Given the description of an element on the screen output the (x, y) to click on. 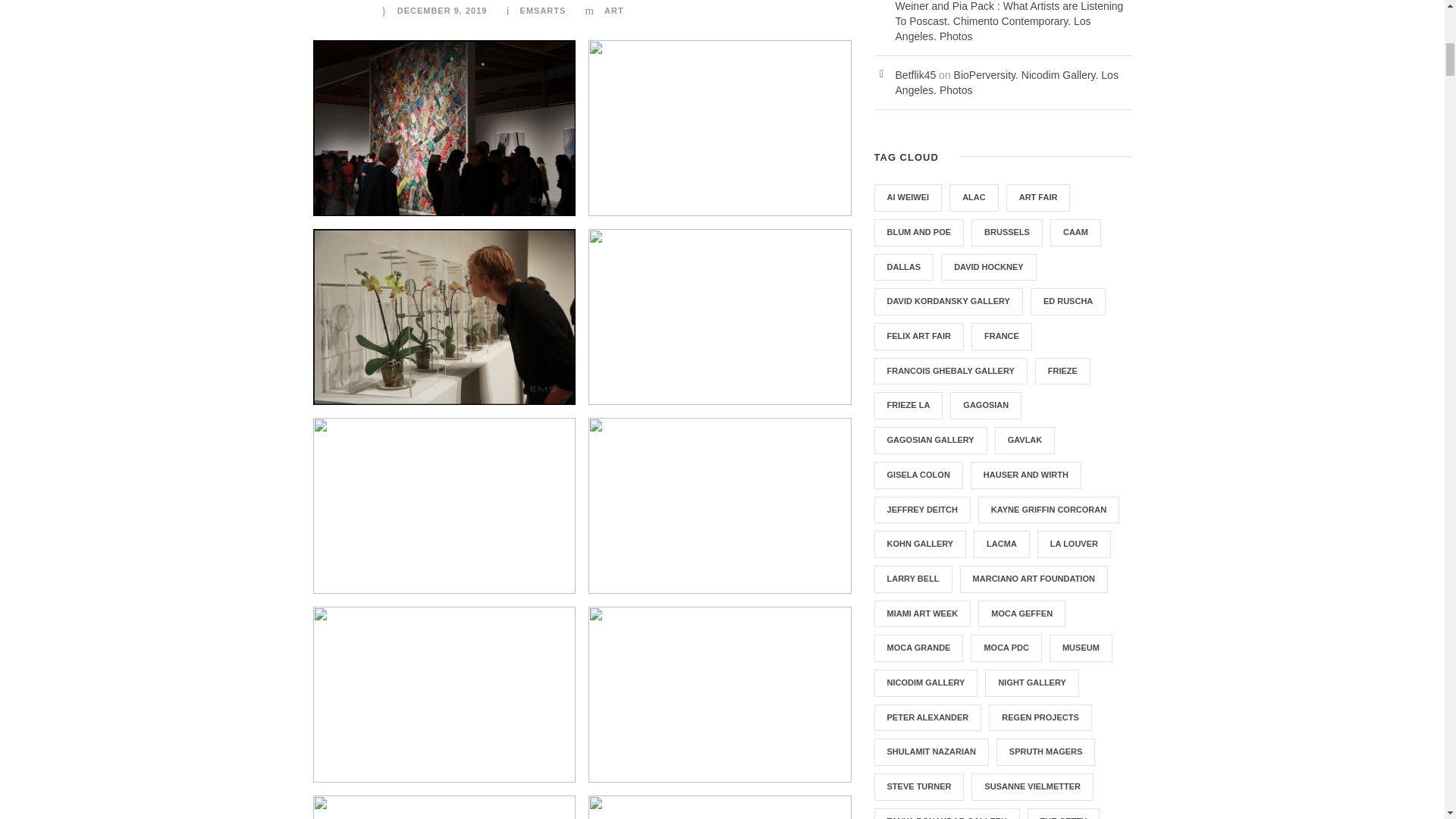
DECEMBER 9, 2019 (442, 10)
ART (614, 10)
EMSARTS (542, 10)
Posts by emsarts (542, 10)
